Given the description of an element on the screen output the (x, y) to click on. 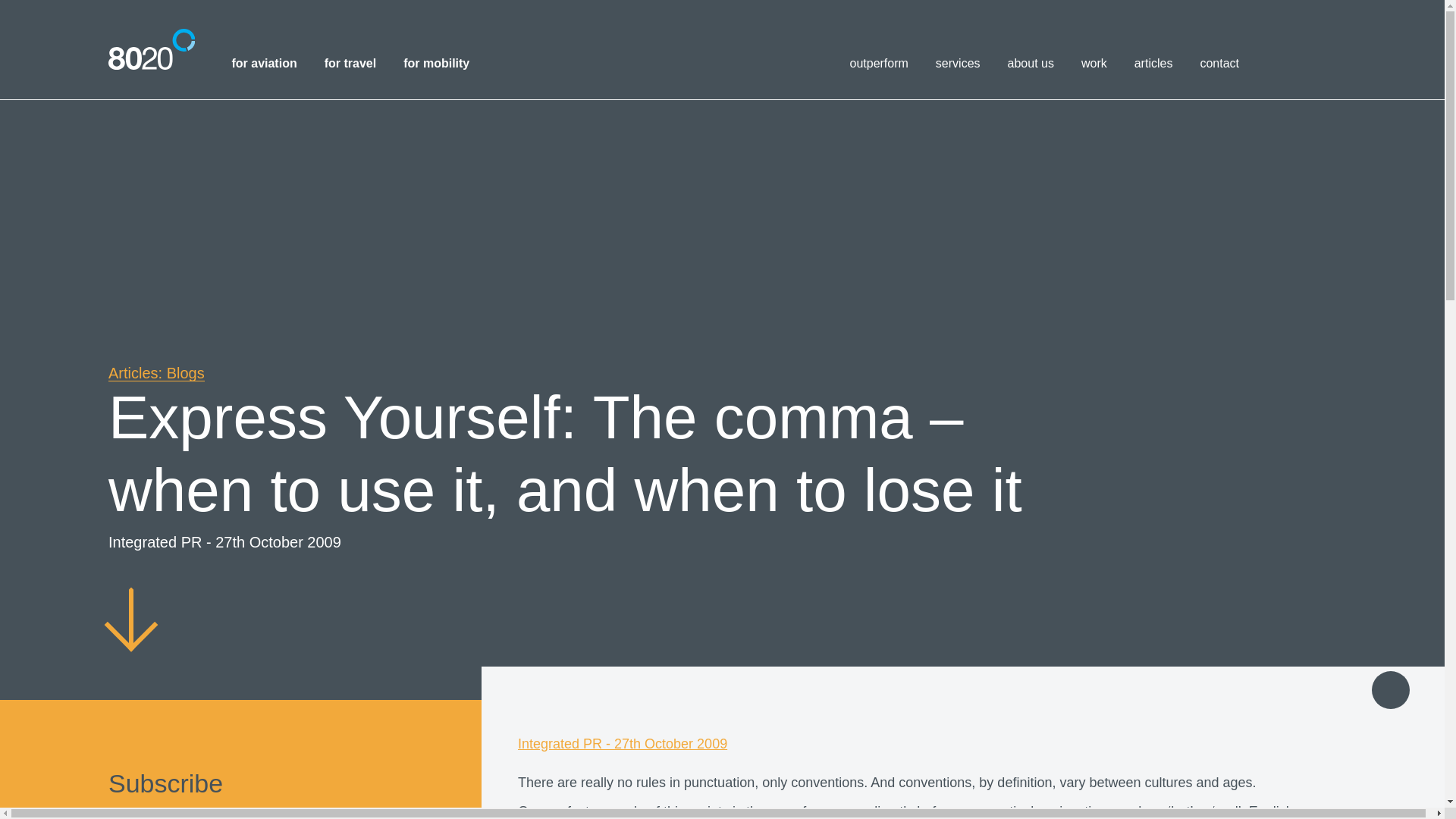
outperform (877, 63)
for mobility (435, 63)
8020 Communications logo (151, 48)
for travel (349, 63)
for aviation (264, 63)
8020 Communications logo (151, 48)
services (957, 63)
Click to visit the Articles: Blogs page (156, 373)
about us (1030, 63)
